Given the description of an element on the screen output the (x, y) to click on. 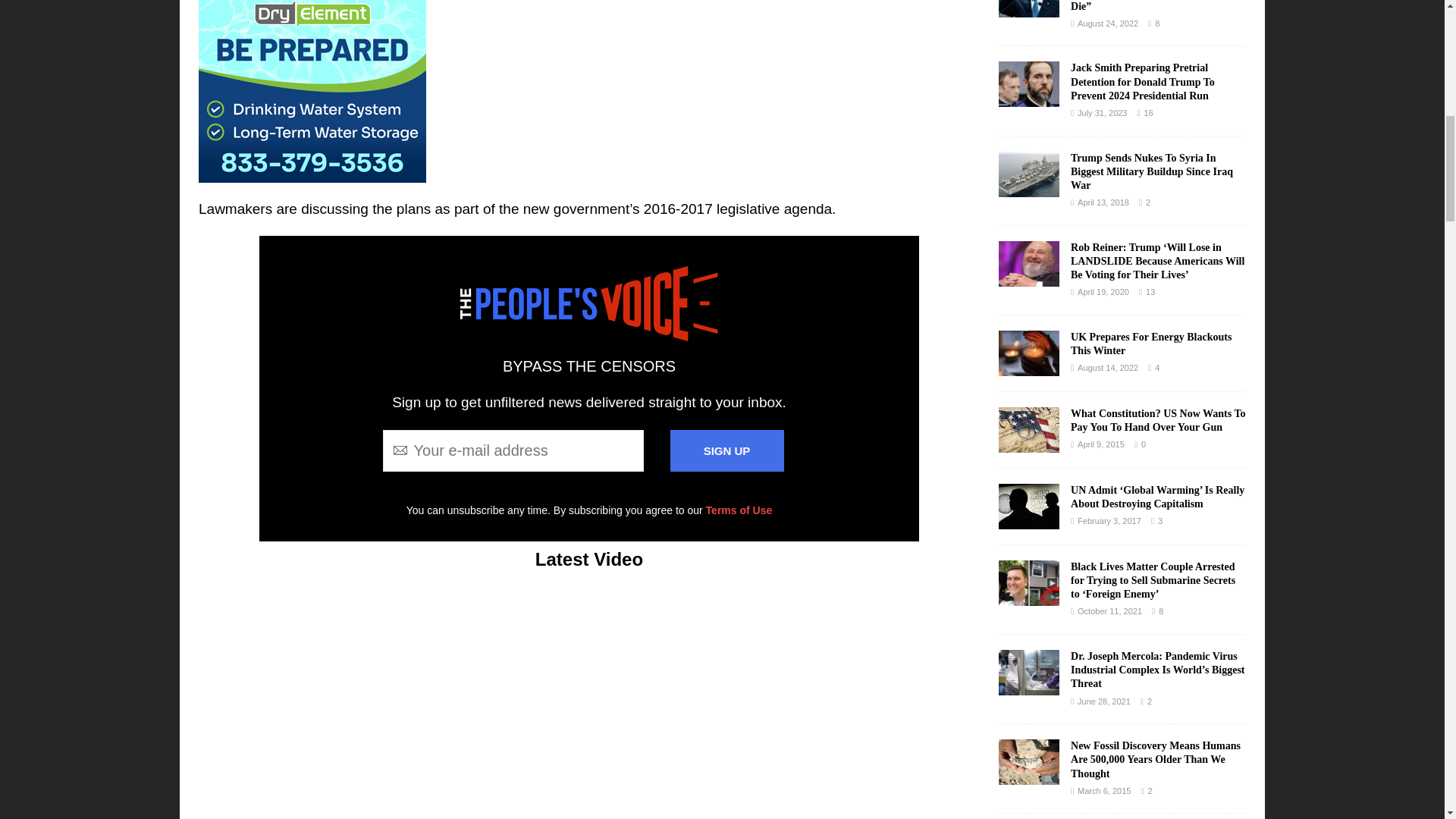
SIGN UP (726, 450)
